Given the description of an element on the screen output the (x, y) to click on. 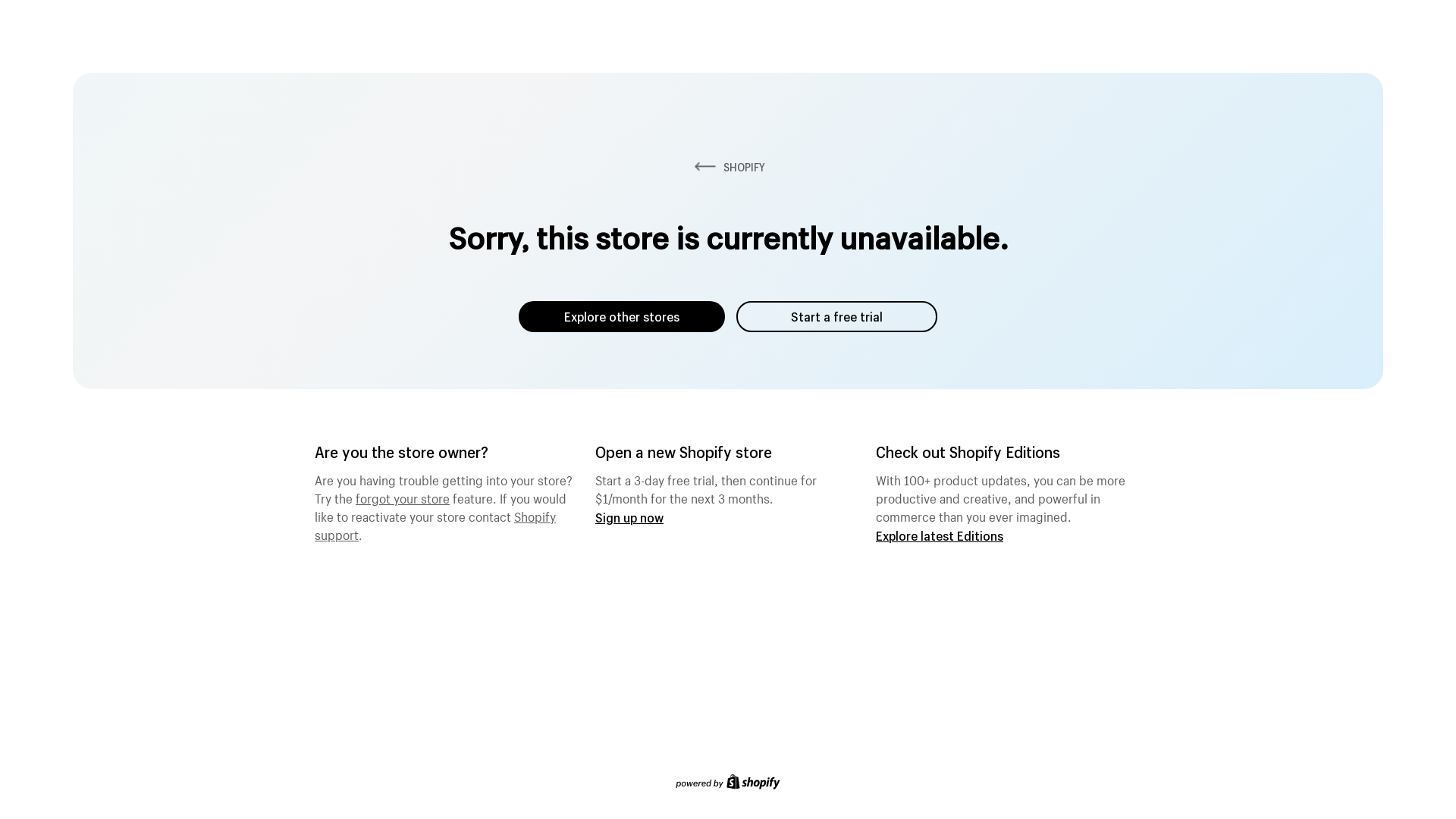
Shopify support Element type: text (434, 523)
Sign up now Element type: text (629, 517)
forgot your store Element type: text (402, 496)
Explore other stores Element type: text (621, 316)
Start a free trial Element type: text (836, 316)
SHOPIFY Element type: text (727, 167)
Explore latest Editions Element type: text (939, 535)
